Given the description of an element on the screen output the (x, y) to click on. 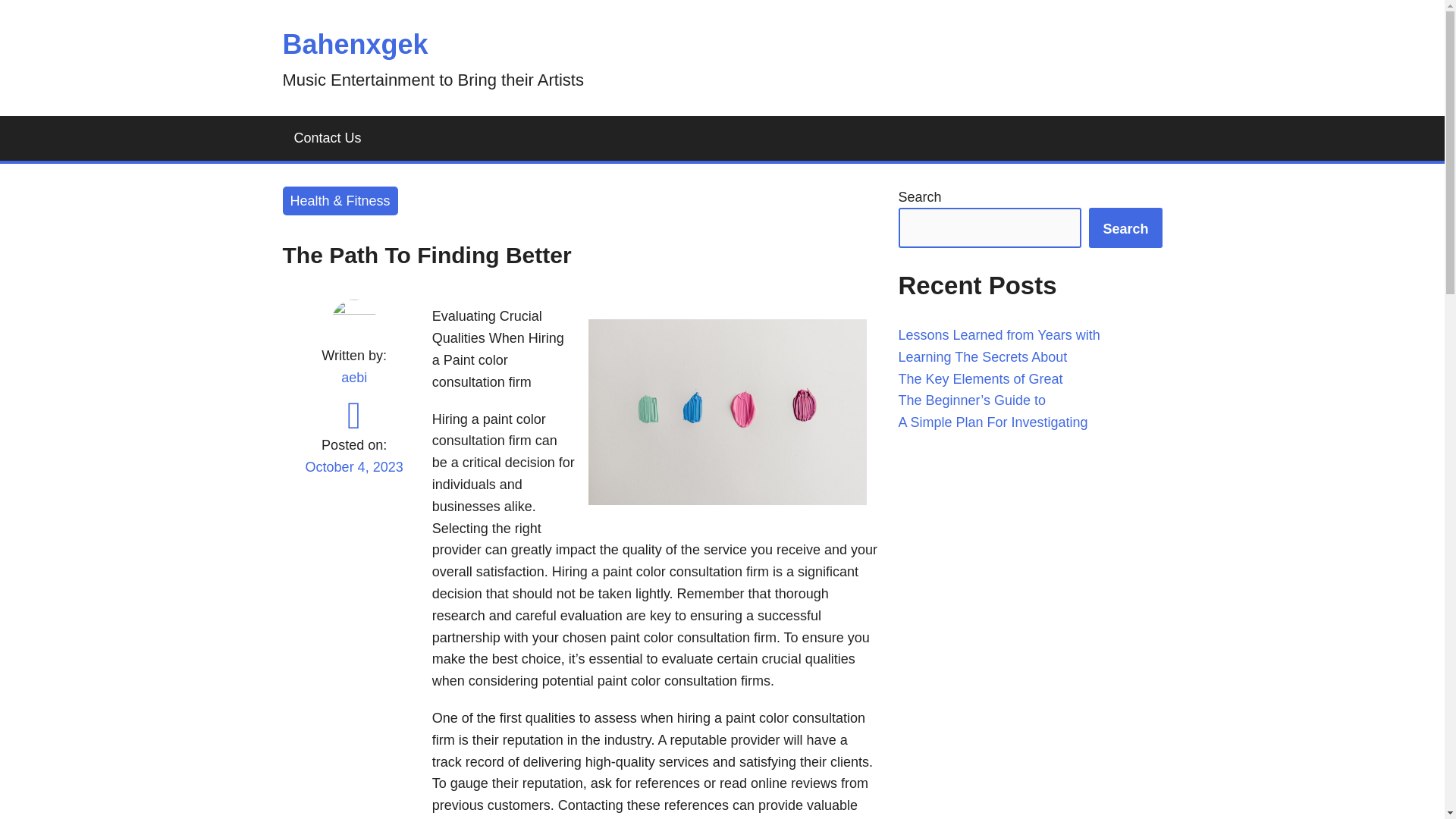
Learning The Secrets About (982, 356)
Bahenxgek (355, 43)
Search (1125, 228)
aebi (353, 377)
A Simple Plan For Investigating (992, 421)
Lessons Learned from Years with (998, 335)
The Key Elements of Great (980, 378)
October 4, 2023 (353, 476)
Contact Us (327, 138)
